Given the description of an element on the screen output the (x, y) to click on. 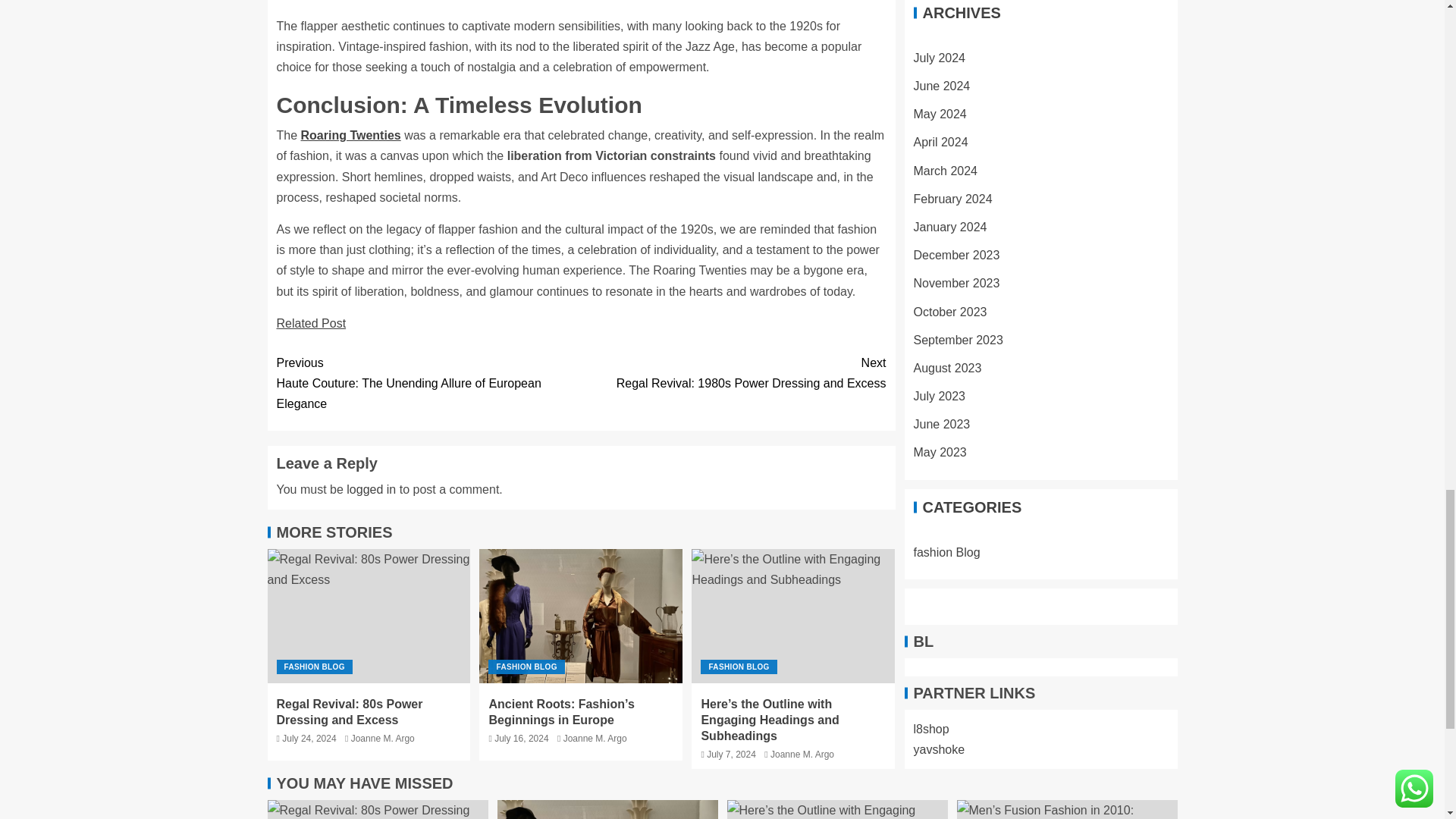
FASHION BLOG (525, 667)
Regal Revival: 80s Power Dressing and Excess (368, 615)
Joanne M. Argo (595, 738)
logged in (371, 489)
Roaring Twenties (351, 134)
FASHION BLOG (738, 667)
Regal Revival: 80s Power Dressing and Excess (349, 711)
Related Post (732, 372)
FASHION BLOG (311, 323)
Regal Revival: 80s Power Dressing and Excess (314, 667)
Joanne M. Argo (376, 809)
